Given the description of an element on the screen output the (x, y) to click on. 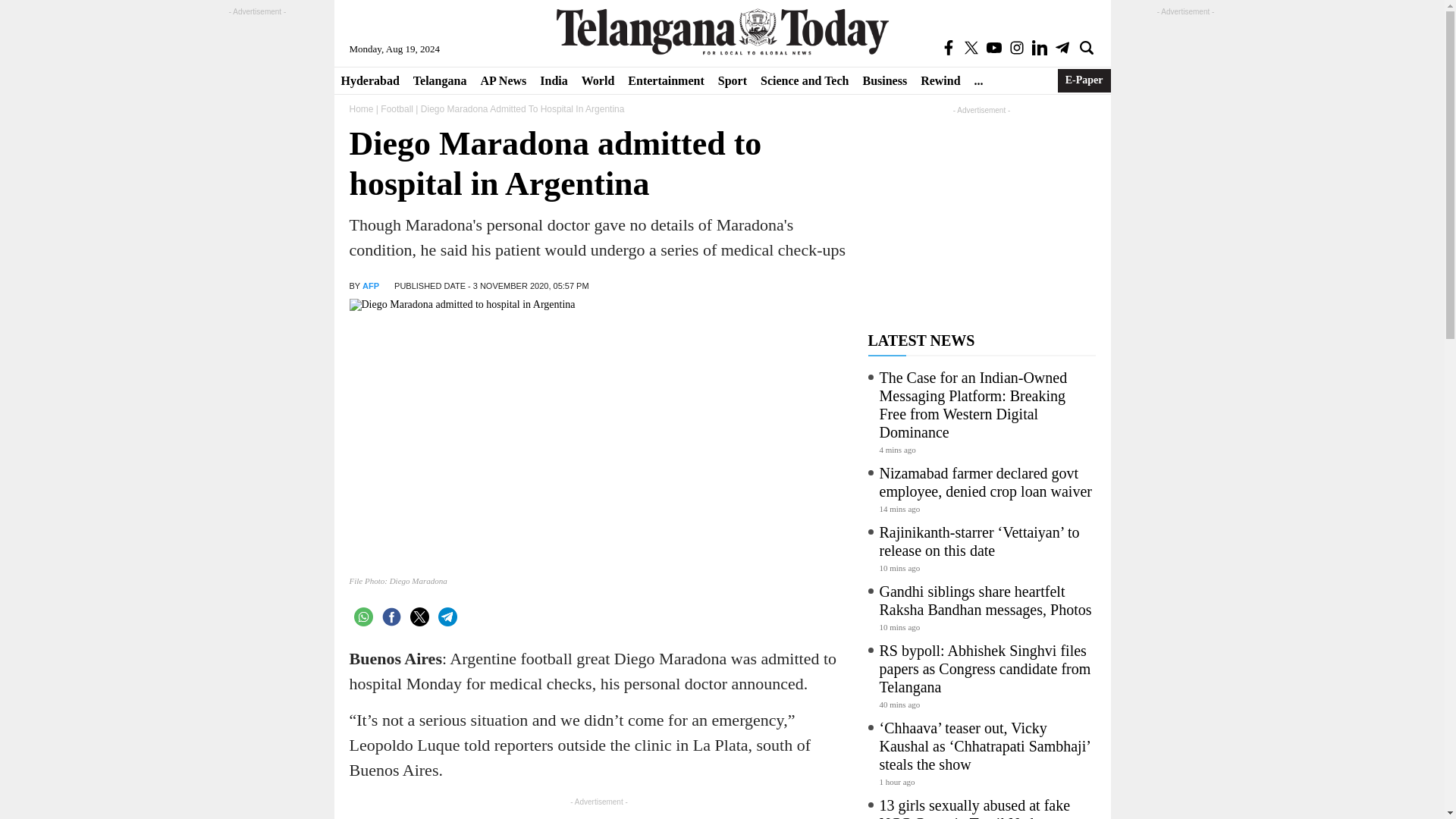
Entertainment (665, 80)
Science and Tech (805, 80)
Telangana (440, 80)
Sport (732, 80)
Rewind (940, 80)
AP News (502, 80)
Rewind (940, 80)
... (979, 80)
Football (396, 109)
Hyderabad (369, 80)
